Given the description of an element on the screen output the (x, y) to click on. 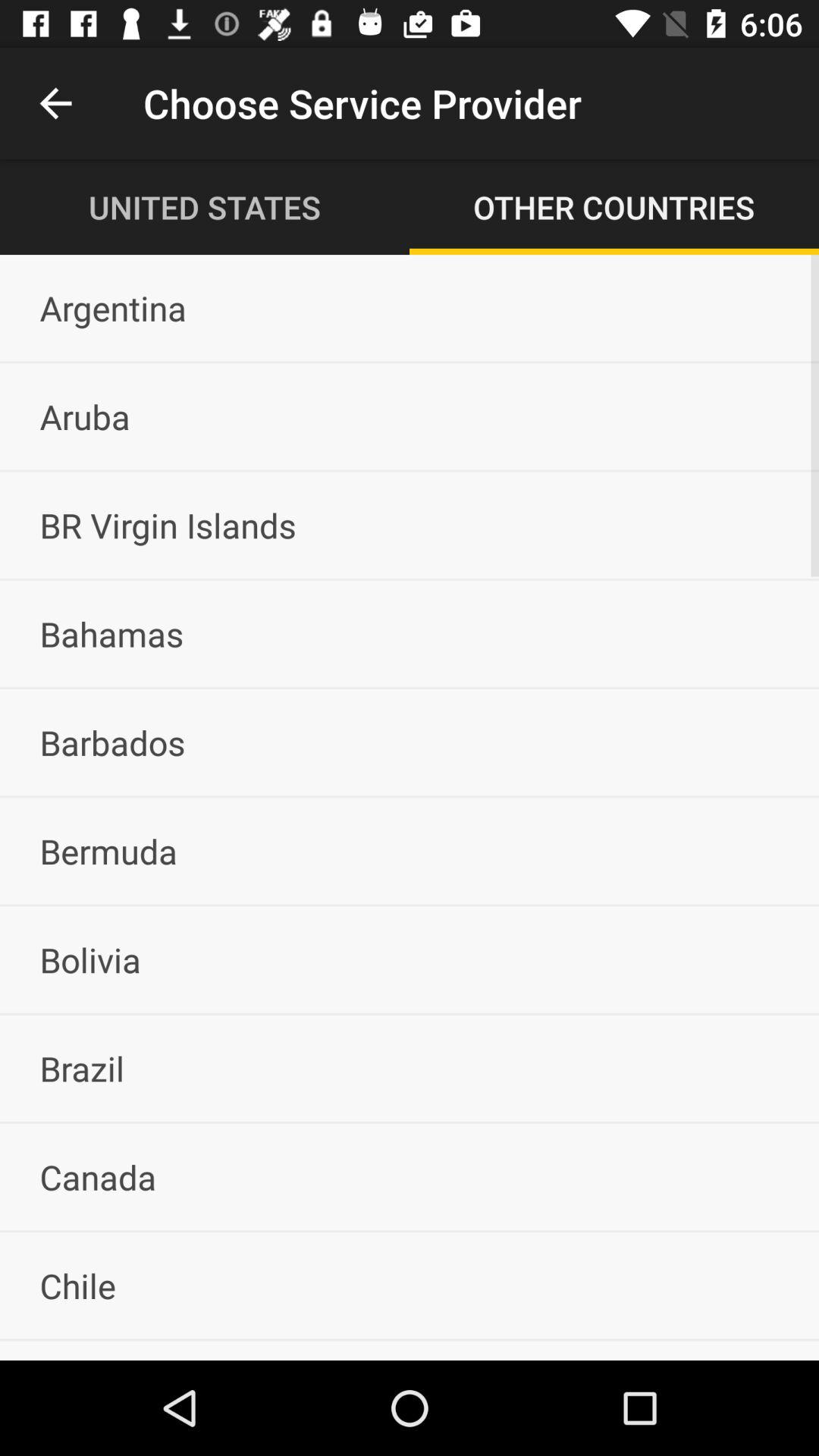
open bolivia (409, 959)
